Given the description of an element on the screen output the (x, y) to click on. 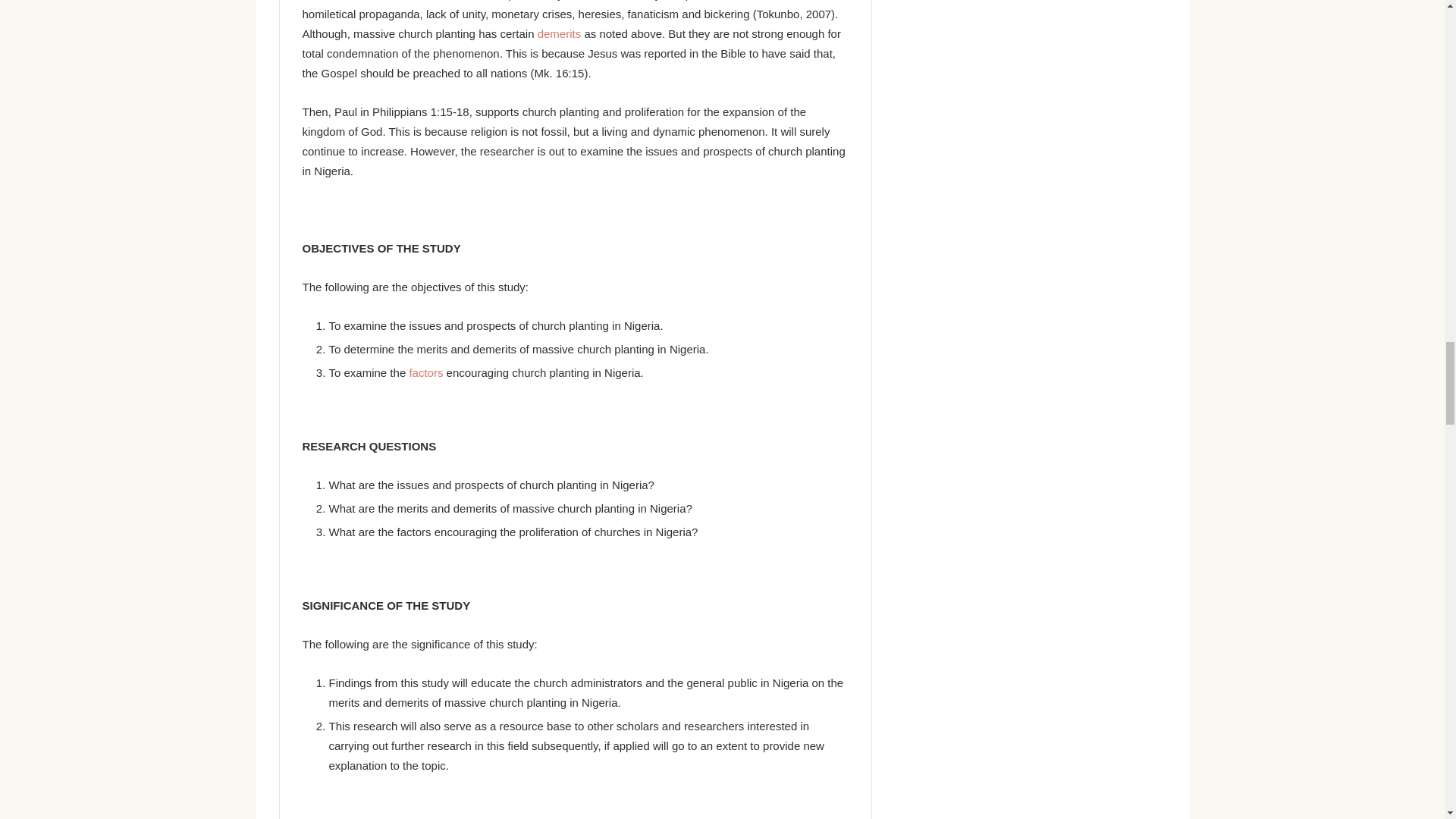
demerits (558, 33)
factors (425, 372)
